Given the description of an element on the screen output the (x, y) to click on. 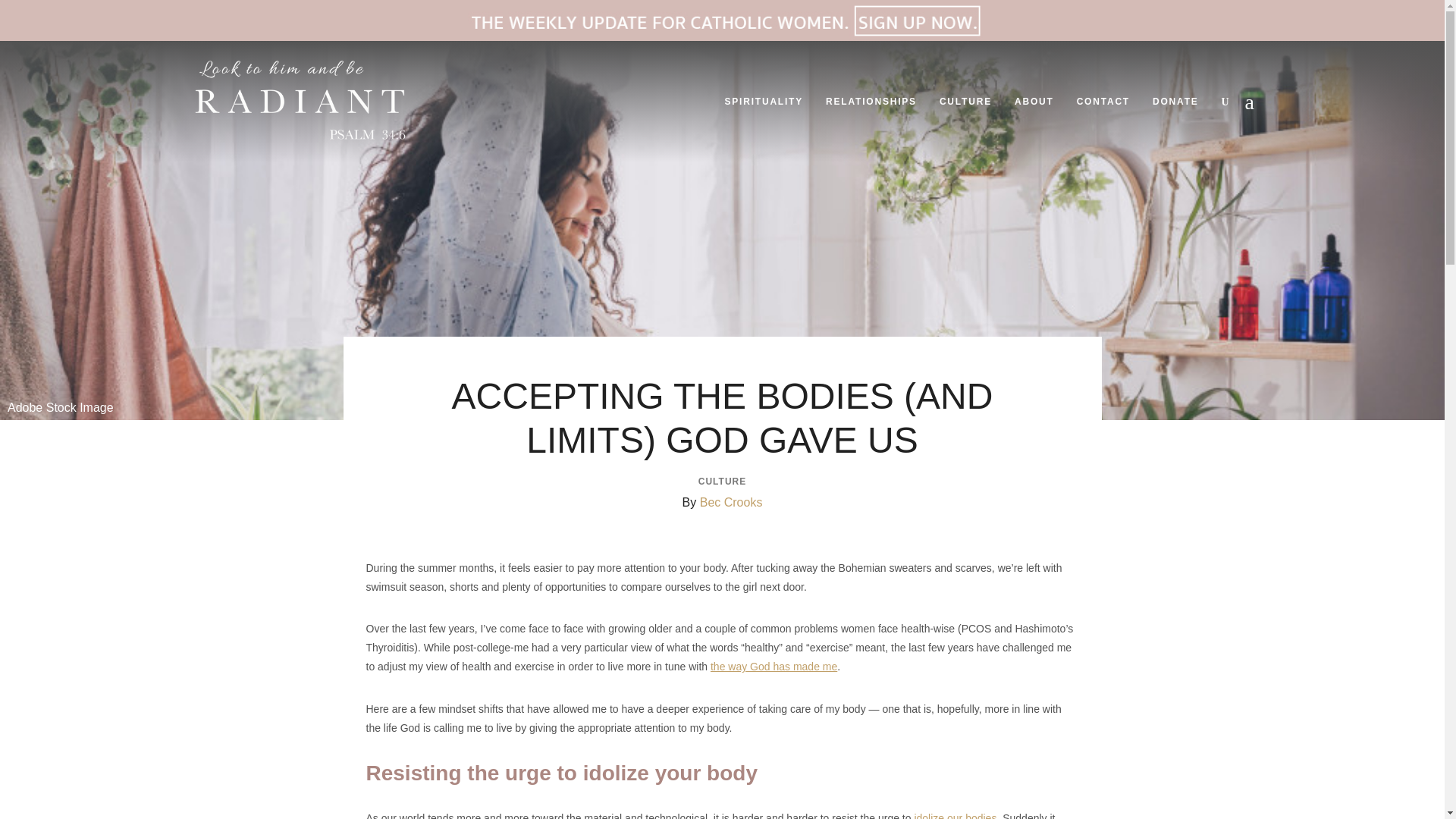
idolize our bodies (954, 815)
DONATE (1175, 101)
Bec Crooks (731, 502)
the way God has made me (773, 666)
RELATIONSHIPS (870, 101)
SPIRITUALITY (763, 101)
ABOUT (1034, 101)
CULTURE (721, 481)
RADIANT (243, 163)
MENU (1254, 101)
CULTURE (965, 101)
CONTACT (1103, 101)
